Given the description of an element on the screen output the (x, y) to click on. 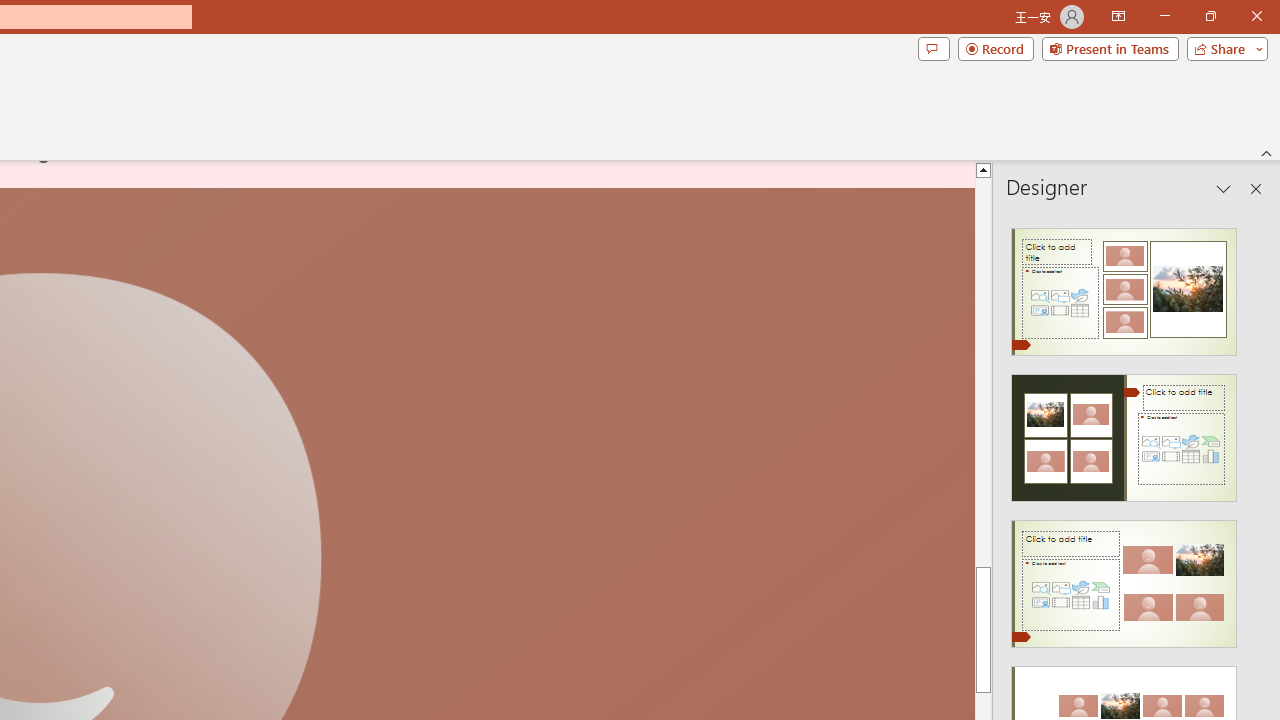
Recommended Design: Design Idea (1124, 286)
